Given the description of an element on the screen output the (x, y) to click on. 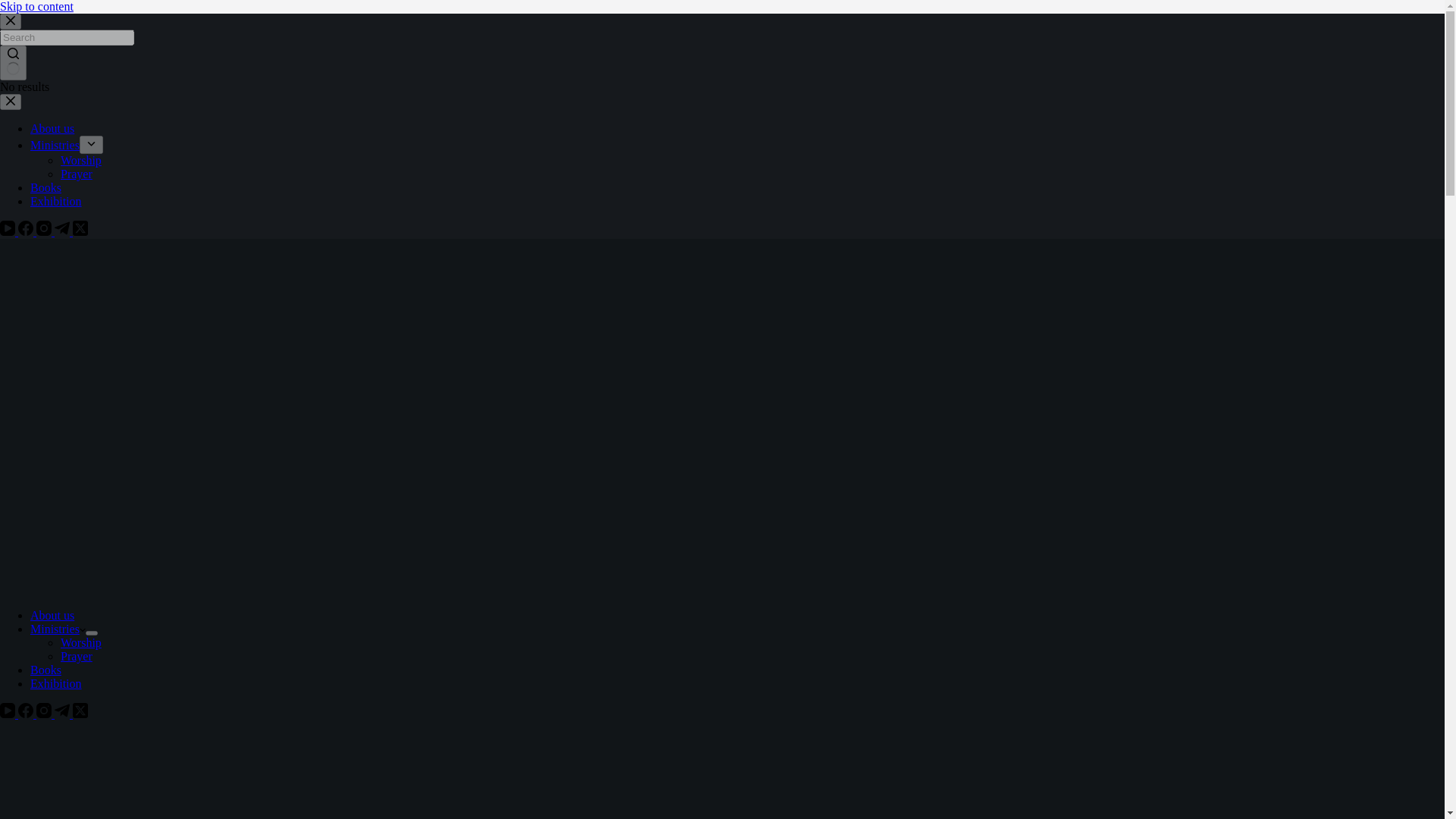
Books (45, 187)
Prayer (77, 656)
Ministries (55, 144)
Books (45, 669)
Worship (81, 160)
Skip to content (37, 6)
Exhibition (55, 201)
Exhibition (55, 683)
Search for... (66, 37)
Prayer (77, 173)
Ministries (57, 628)
About us (52, 615)
Worship (81, 642)
About us (52, 128)
